Given the description of an element on the screen output the (x, y) to click on. 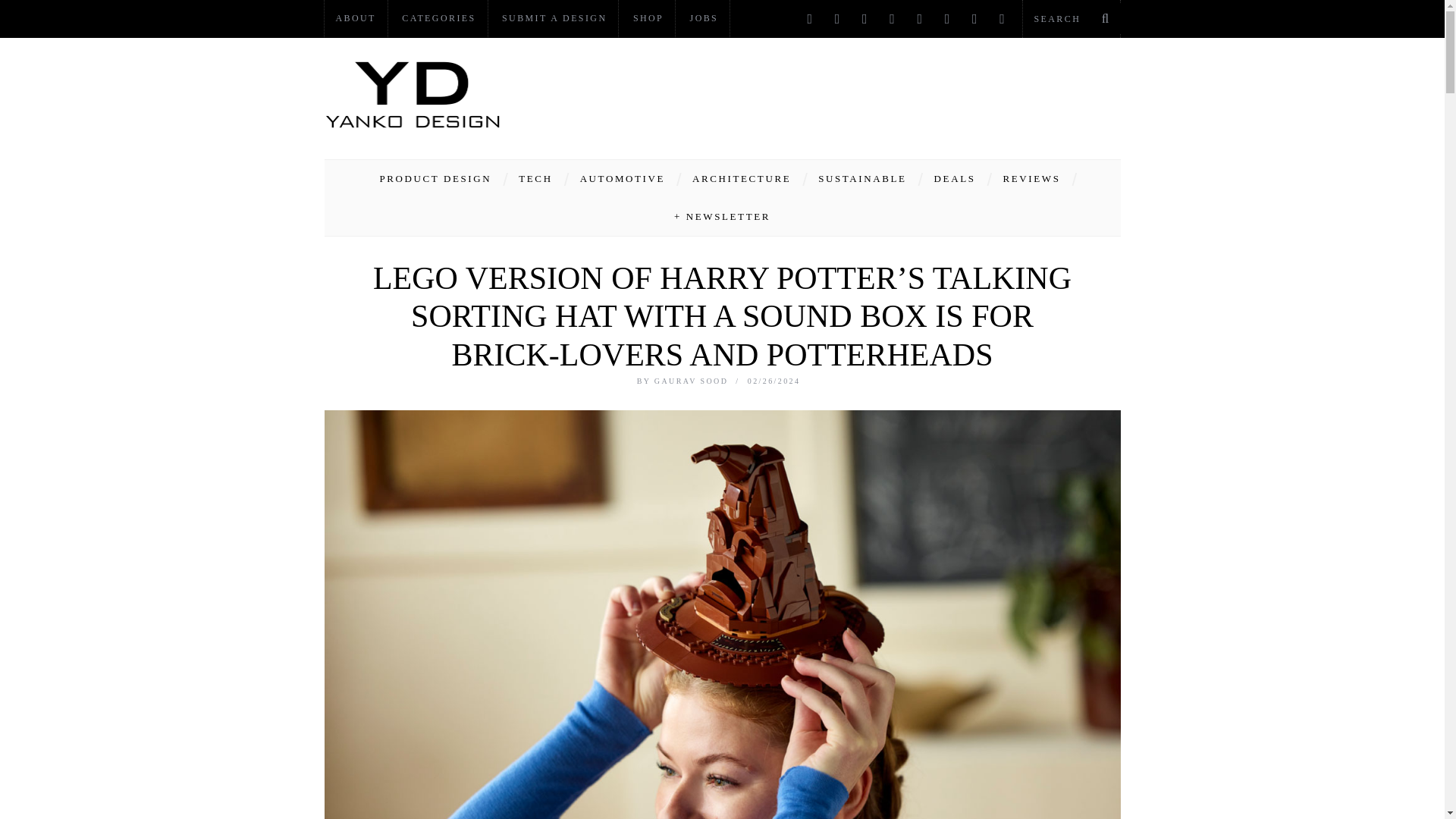
Search (1071, 18)
SUBMIT A DESIGN (553, 18)
SHOP (648, 18)
ABOUT (355, 18)
CATEGORIES (438, 18)
JOBS (704, 18)
